Given the description of an element on the screen output the (x, y) to click on. 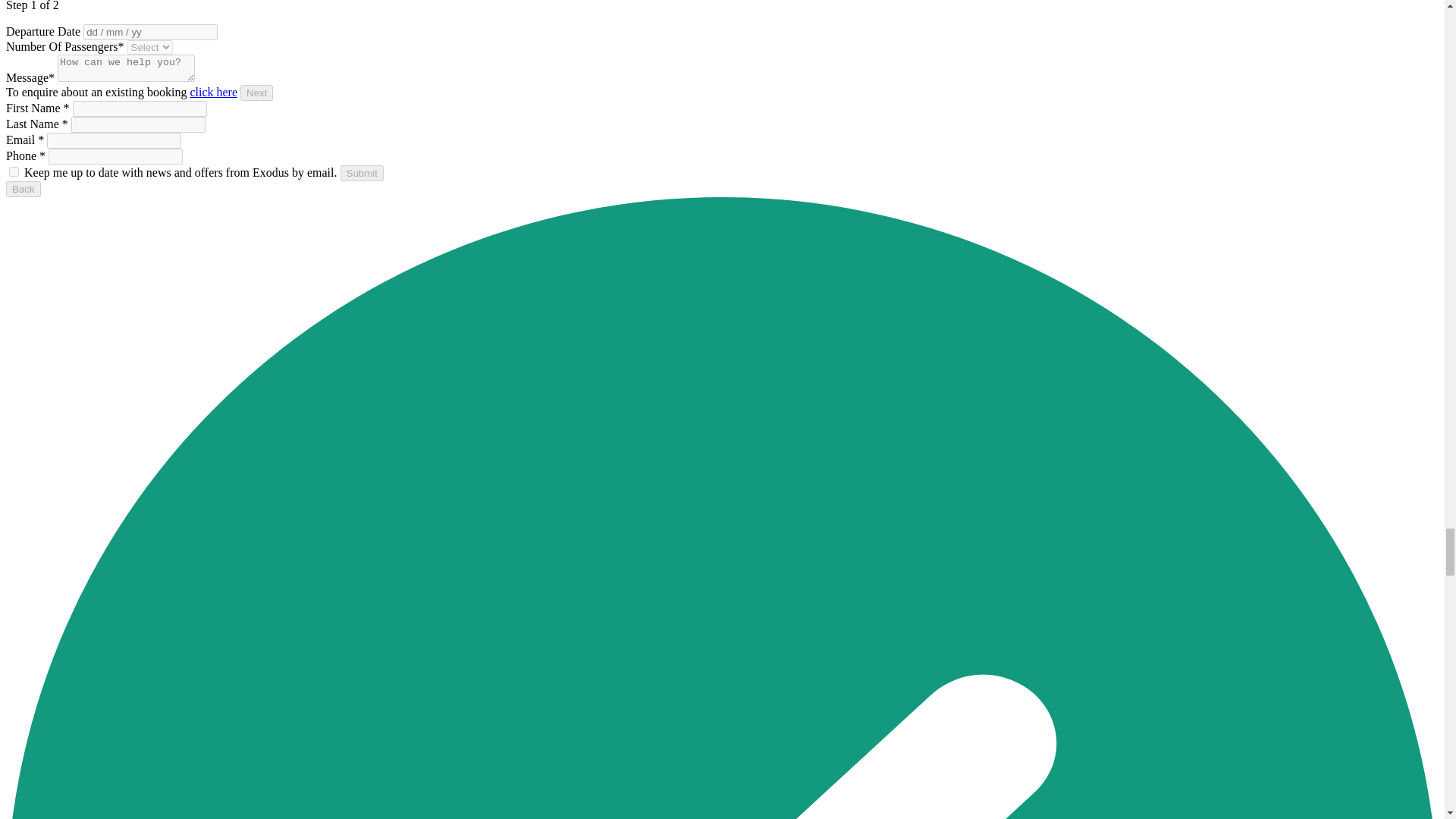
true (13, 171)
